Given the description of an element on the screen output the (x, y) to click on. 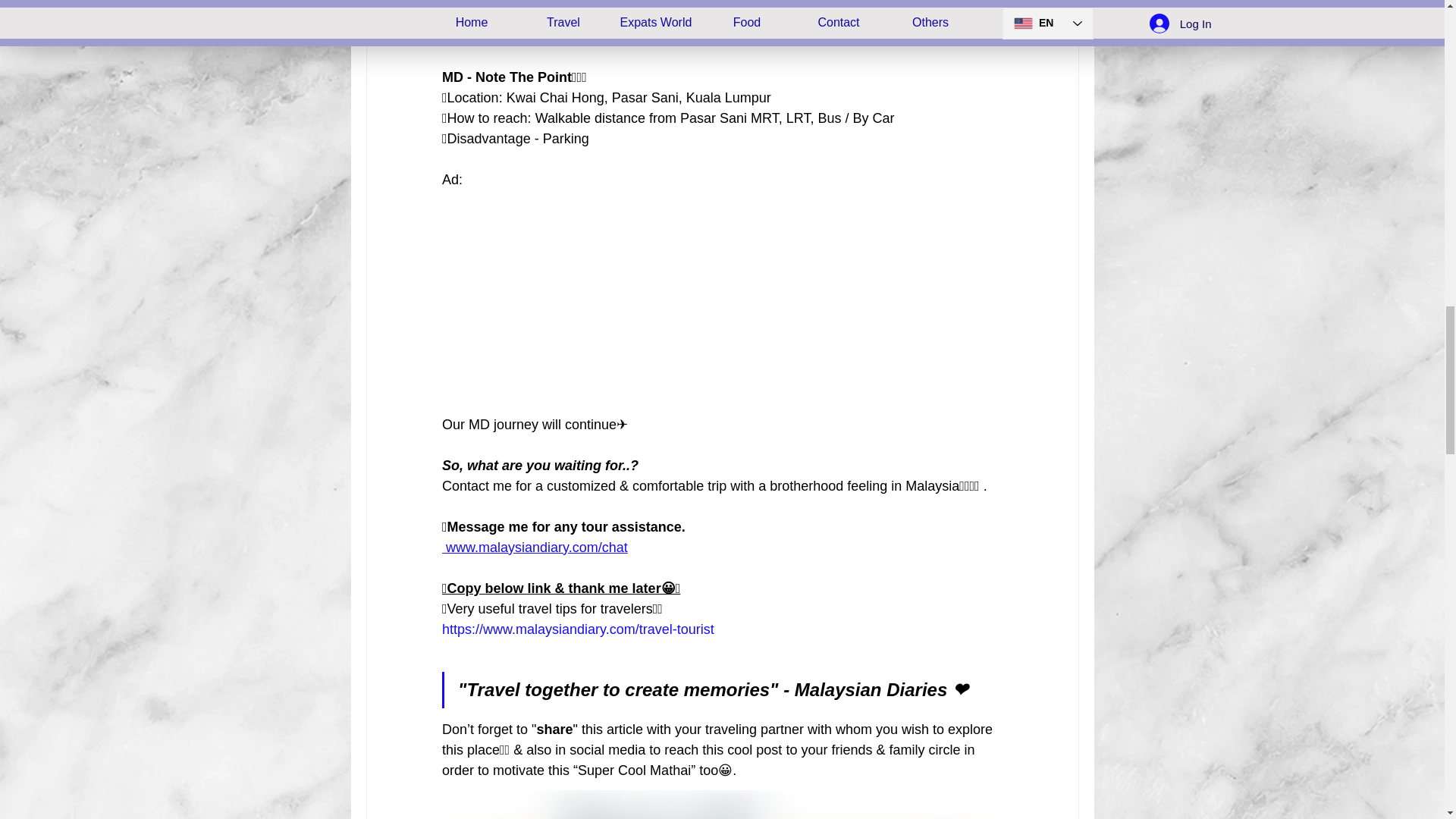
remote content (722, 302)
